Given the description of an element on the screen output the (x, y) to click on. 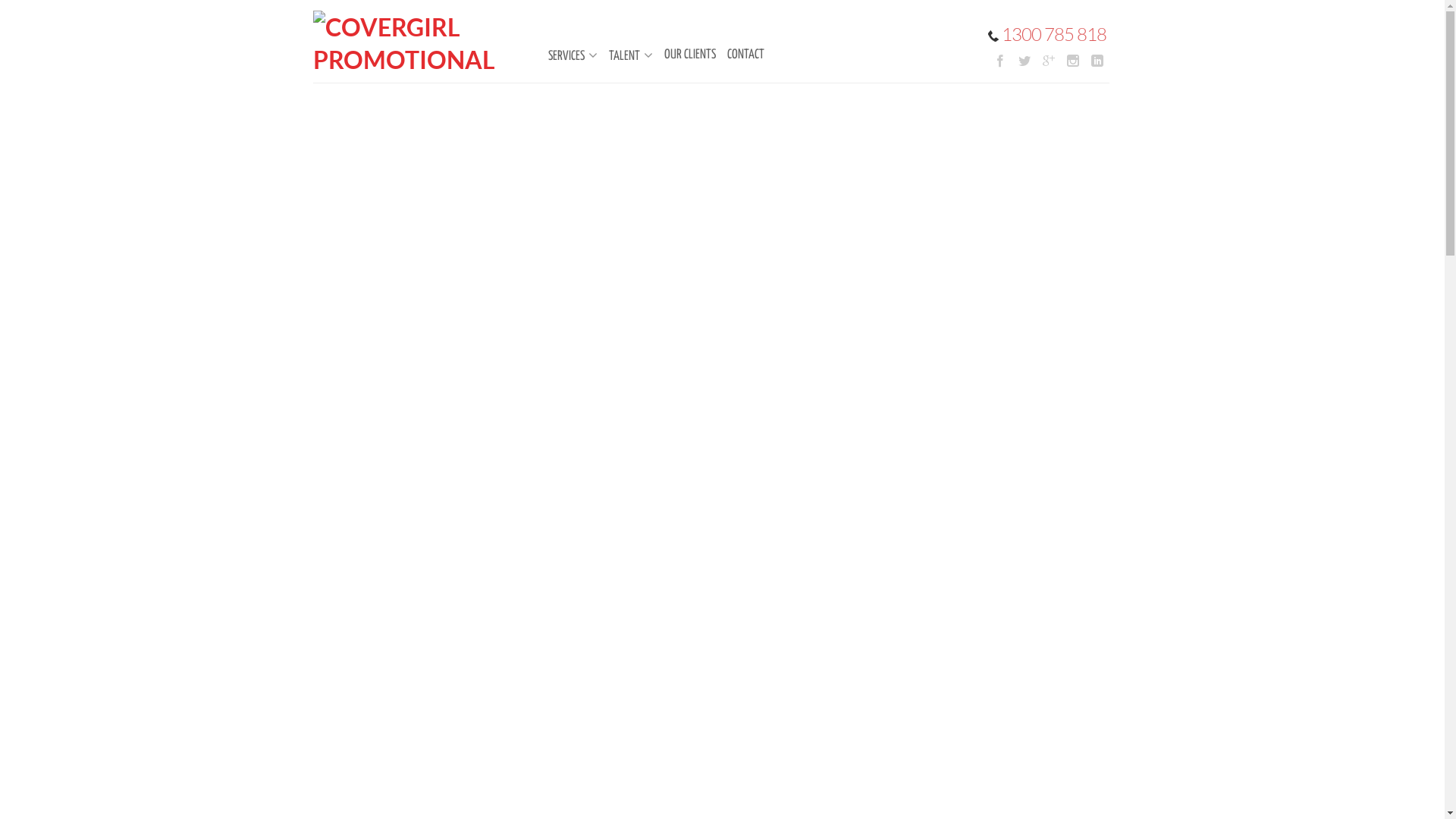
OUR CLIENTS Element type: text (682, 54)
CONTACT Element type: text (737, 54)
SERVICES Element type: text (564, 56)
 1300 785 818 Element type: text (1046, 33)
TALENT Element type: text (622, 56)
